Given the description of an element on the screen output the (x, y) to click on. 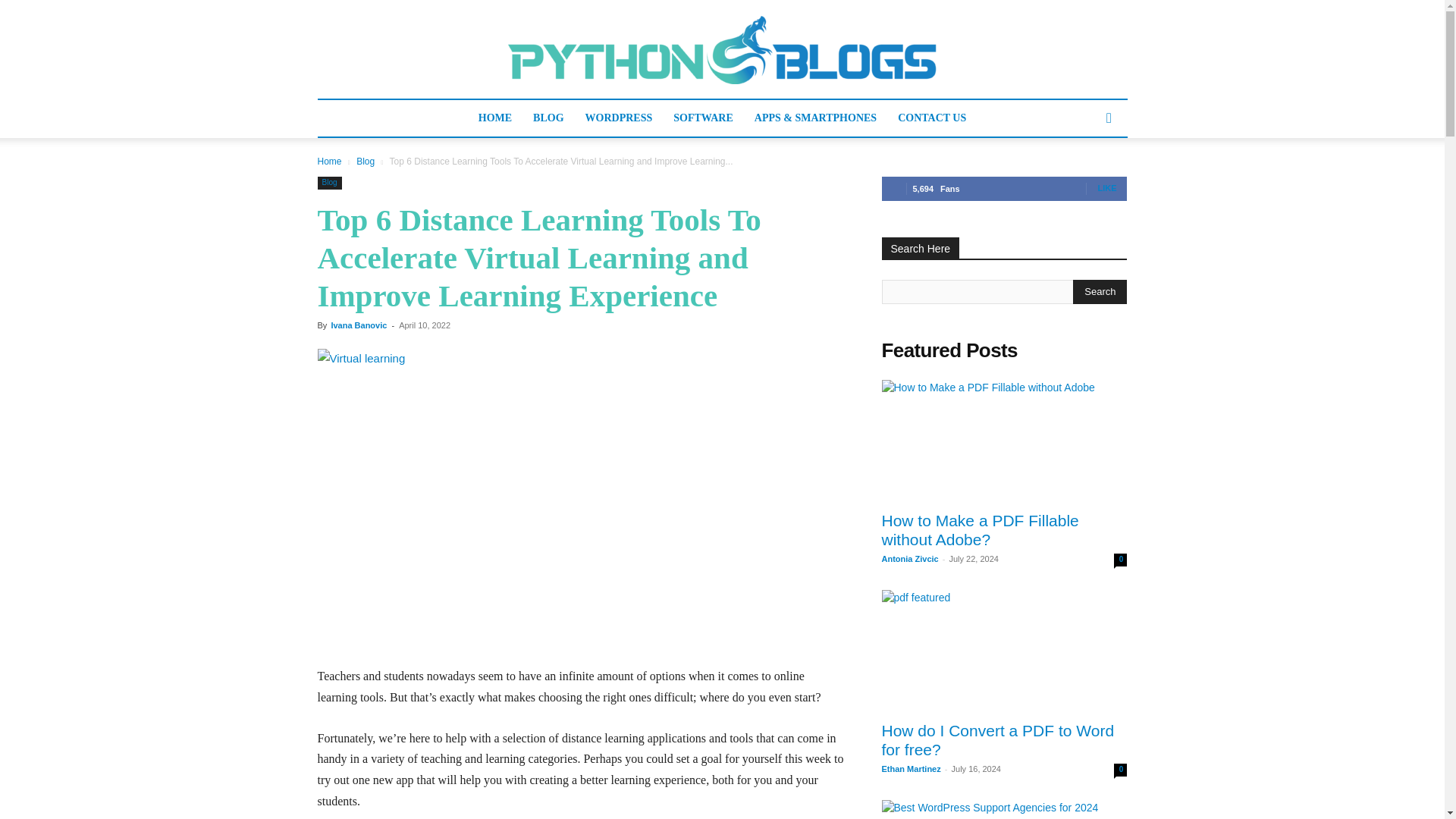
Blog (328, 182)
WORDPRESS (619, 117)
View all posts in Blog (365, 161)
Search (1085, 178)
CONTACT US (931, 117)
Home (328, 161)
SOFTWARE (703, 117)
Ivana Banovic (358, 325)
Search (1099, 291)
HOME (494, 117)
Blog (365, 161)
BLOG (547, 117)
